Given the description of an element on the screen output the (x, y) to click on. 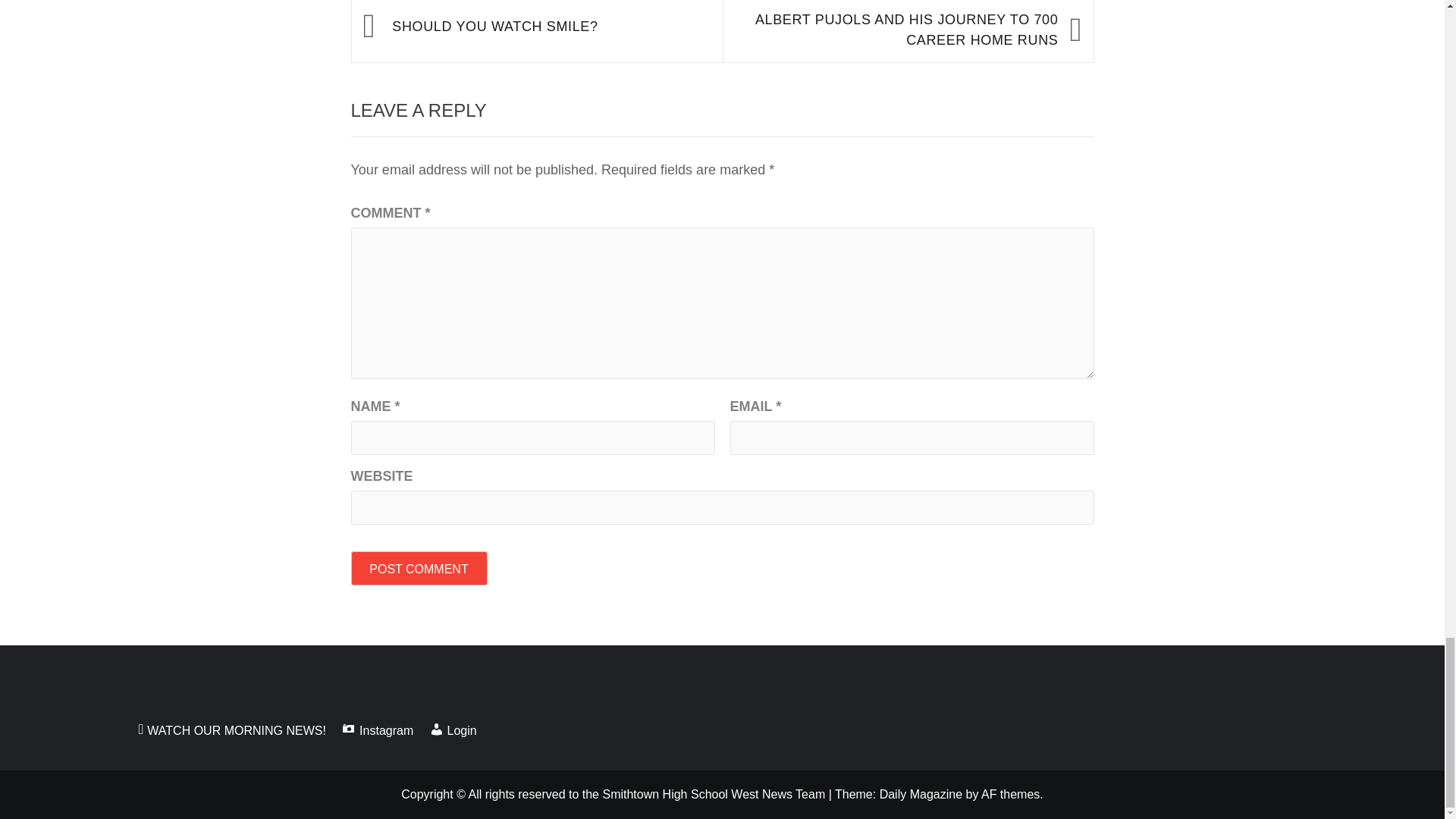
Login (459, 730)
Post Comment (418, 568)
Login (459, 730)
Daily Magazine (920, 793)
SHOULD YOU WATCH SMILE? (548, 26)
ALBERT PUJOLS AND HIS JOURNEY TO 700 CAREER HOME RUNS (898, 29)
AF themes (1010, 793)
Post Comment (418, 568)
WATCH OUR MORNING NEWS! (237, 730)
Instagram (382, 730)
